Given the description of an element on the screen output the (x, y) to click on. 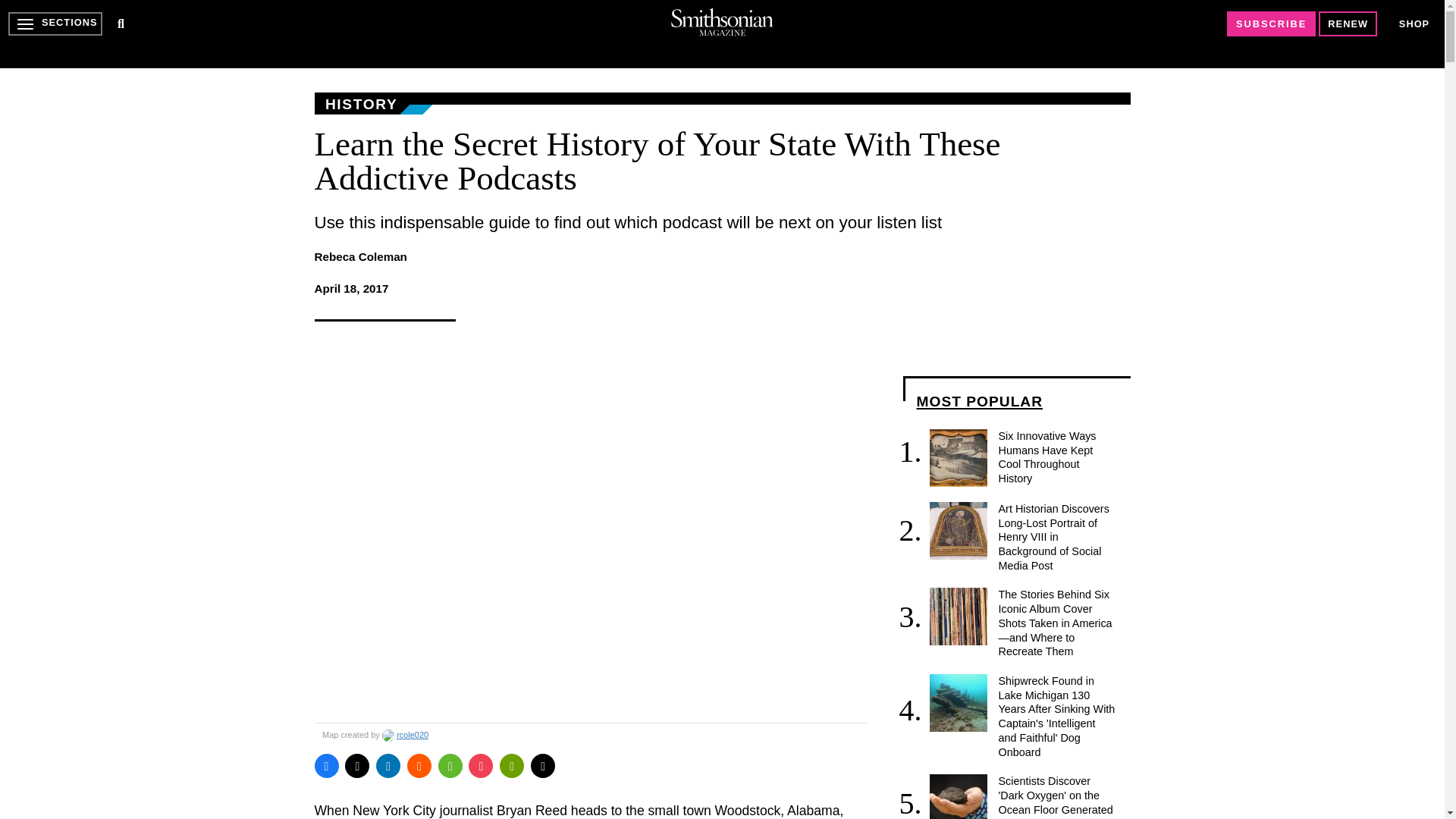
SUBSCRIBE (1271, 23)
SUBSCRIBE (1271, 23)
RENEW (1348, 23)
Facebook (325, 765)
SECTIONS (55, 23)
SHOP (1414, 23)
Email (542, 765)
Pocket (480, 765)
LinkedIn (387, 765)
WhatsApp (450, 765)
Print (511, 765)
Reddit (418, 765)
Twitter (357, 765)
SHOP (1413, 23)
RENEW (1347, 23)
